Given the description of an element on the screen output the (x, y) to click on. 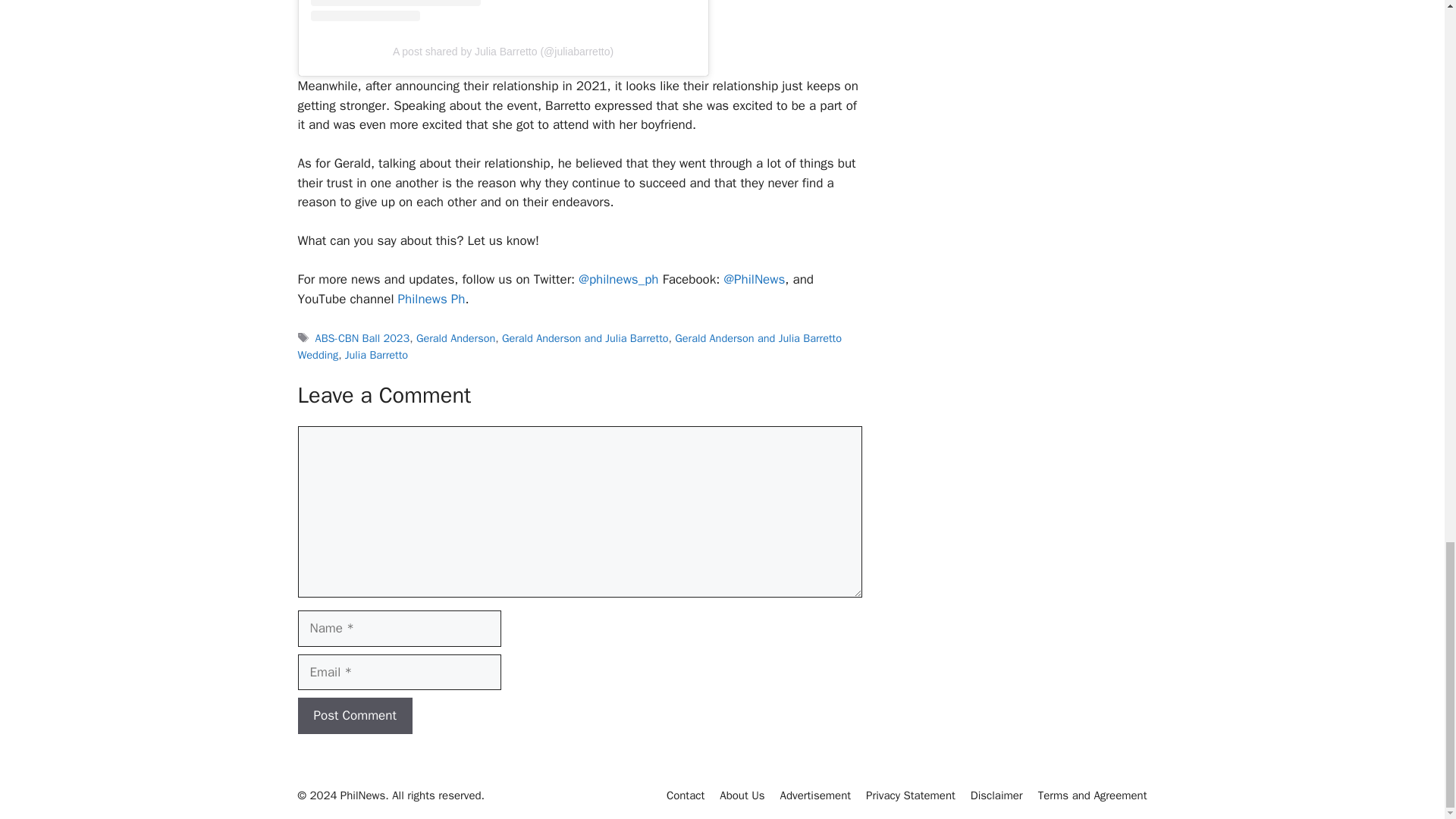
Post Comment (354, 715)
